Given the description of an element on the screen output the (x, y) to click on. 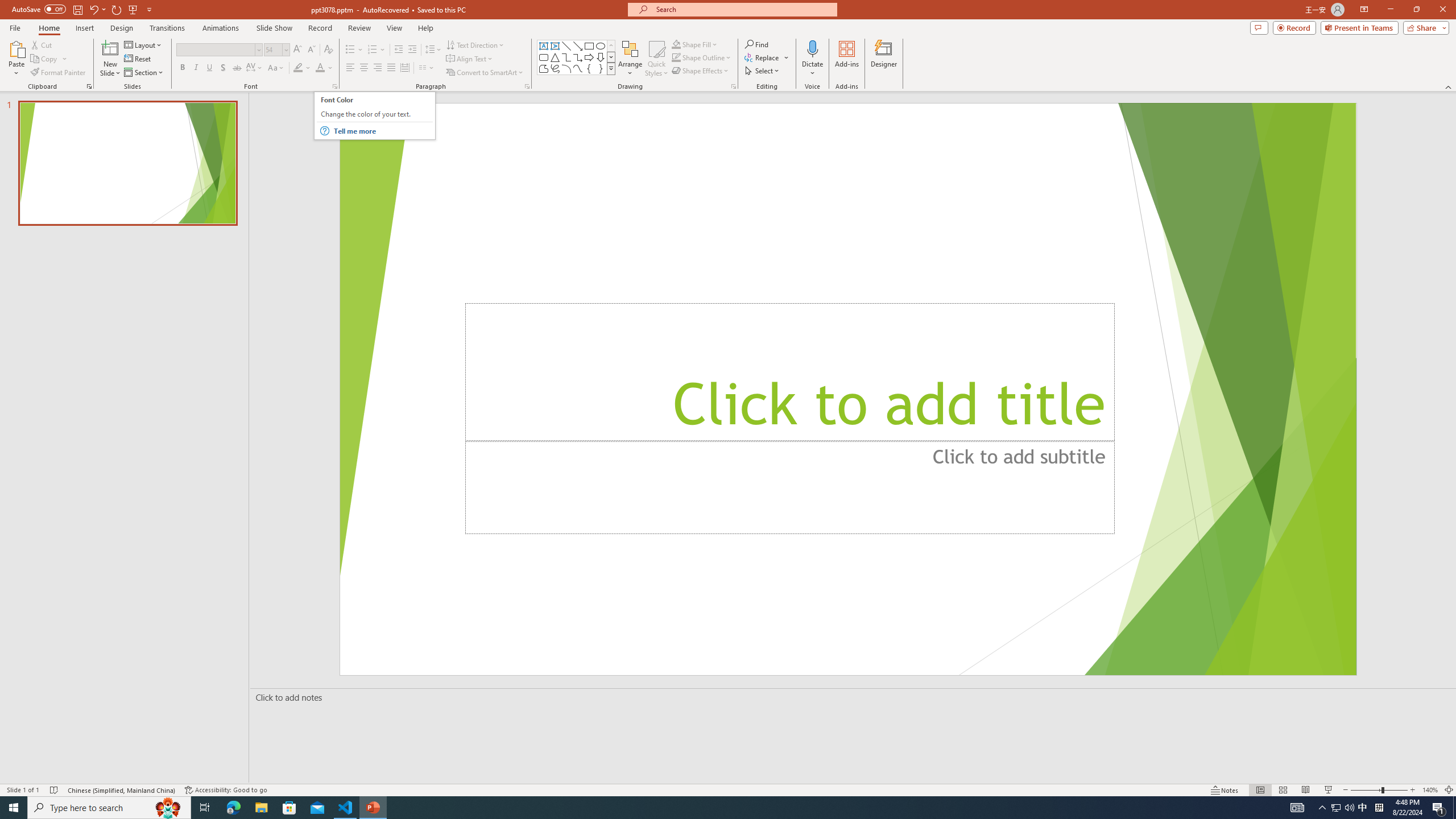
Accessibility Checker Accessibility: Good to go (226, 790)
Line Arrow (577, 45)
Numbering (372, 49)
New Slide (110, 58)
Font (219, 49)
Restore Down (1416, 9)
Strikethrough (237, 67)
Quick Access Toolbar (82, 9)
Freeform: Shape (543, 68)
AutoSave (38, 9)
Animations (220, 28)
Paragraph... (526, 85)
Office Clipboard... (88, 85)
Ribbon Display Options (1364, 9)
Font Size (273, 49)
